Given the description of an element on the screen output the (x, y) to click on. 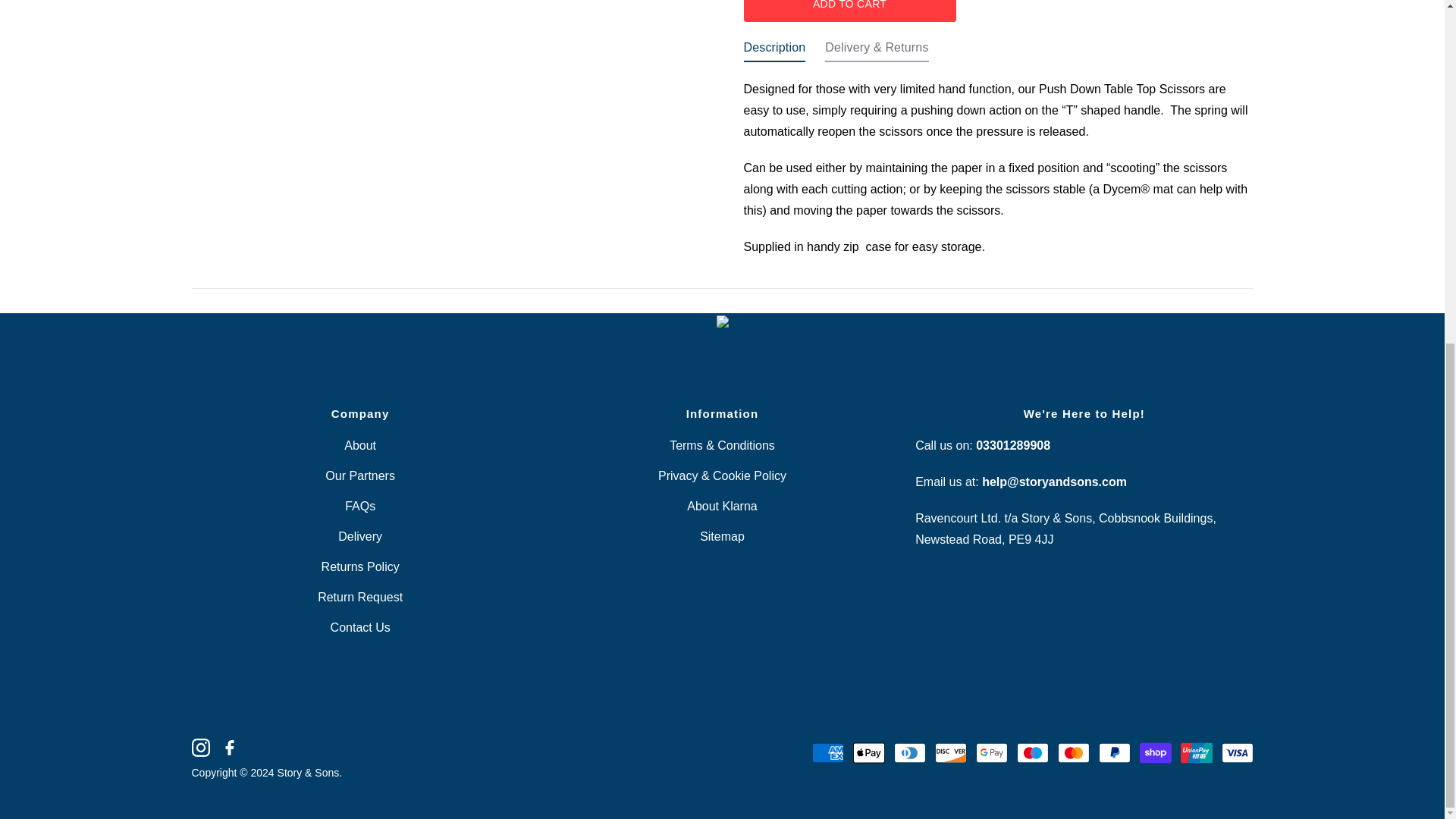
Google Pay (991, 753)
Union Pay (1195, 753)
PayPal (1113, 753)
Mastercard (1073, 753)
Apple Pay (867, 753)
Visa (1236, 753)
Discover (950, 753)
Add to cart (848, 11)
Diners Club (908, 753)
Maestro (1032, 753)
